Given the description of an element on the screen output the (x, y) to click on. 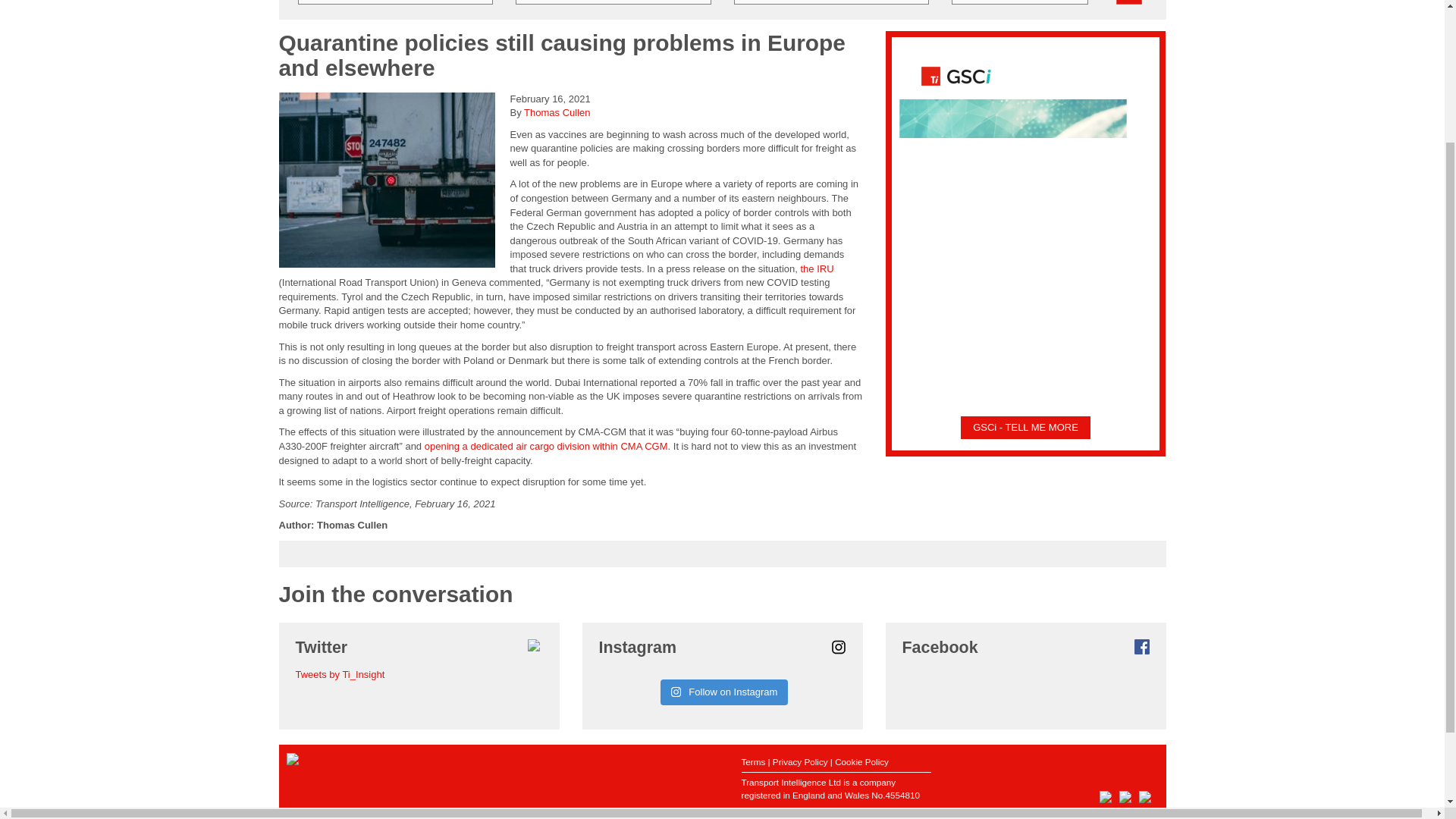
GSCi - TELL ME MORE (1025, 427)
Thomas Cullen (556, 112)
opening a dedicated air cargo division within CMA CGM (546, 446)
the IRU (815, 268)
